Given the description of an element on the screen output the (x, y) to click on. 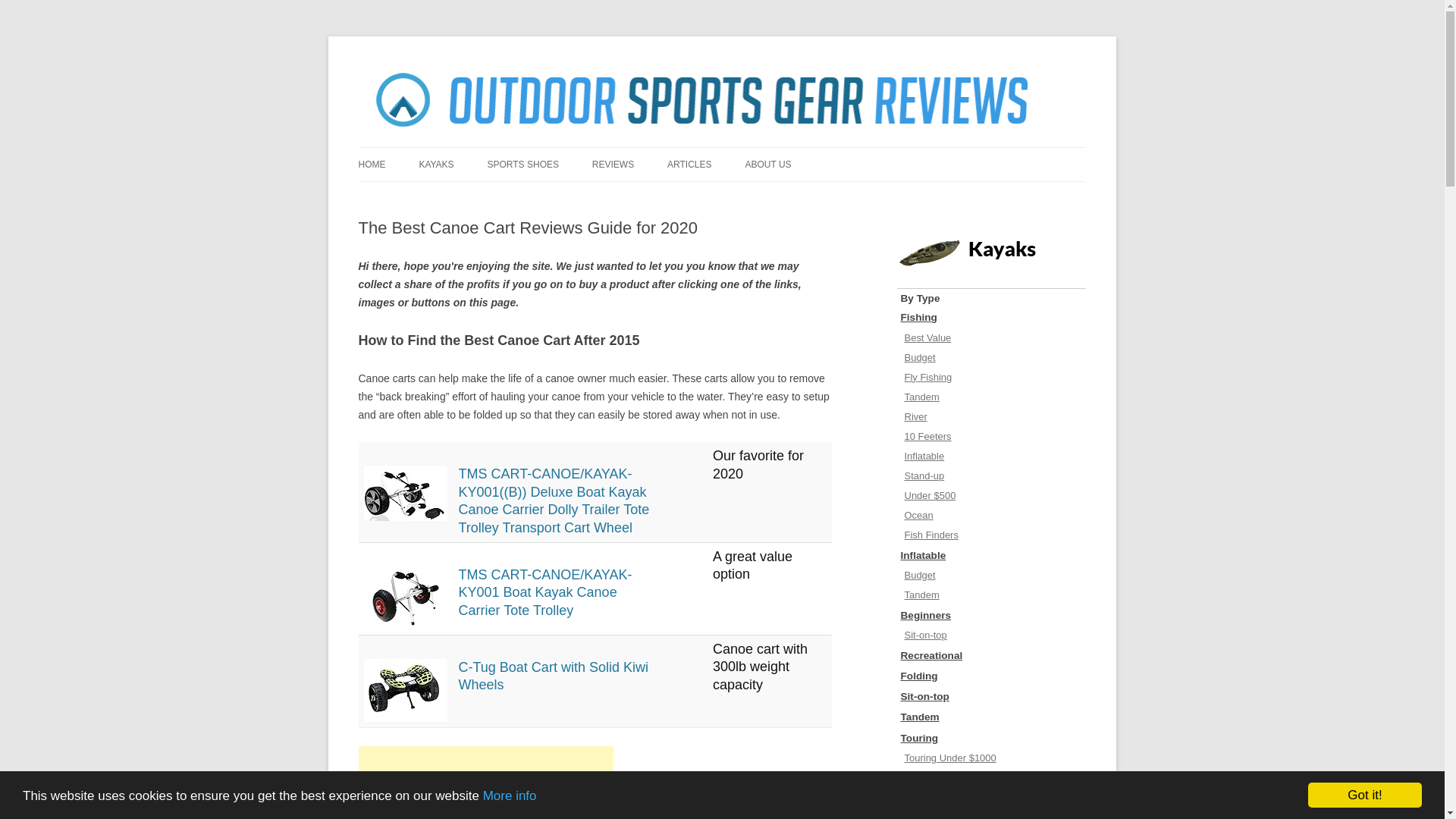
Ocean (991, 516)
KAYAKS (435, 164)
Advertisement (485, 782)
ARTICLES (688, 164)
Inflatable (991, 556)
Stand-up (991, 476)
SPORTS SHOES (521, 164)
Budget (991, 358)
Outdoor Sports Gear Reviews (498, 72)
Best Value (991, 338)
Fishing (991, 317)
10 Feeters (991, 437)
REVIEWS (612, 164)
Outdoor Sports Gear Reviews (498, 72)
Skip to content (757, 152)
